Given the description of an element on the screen output the (x, y) to click on. 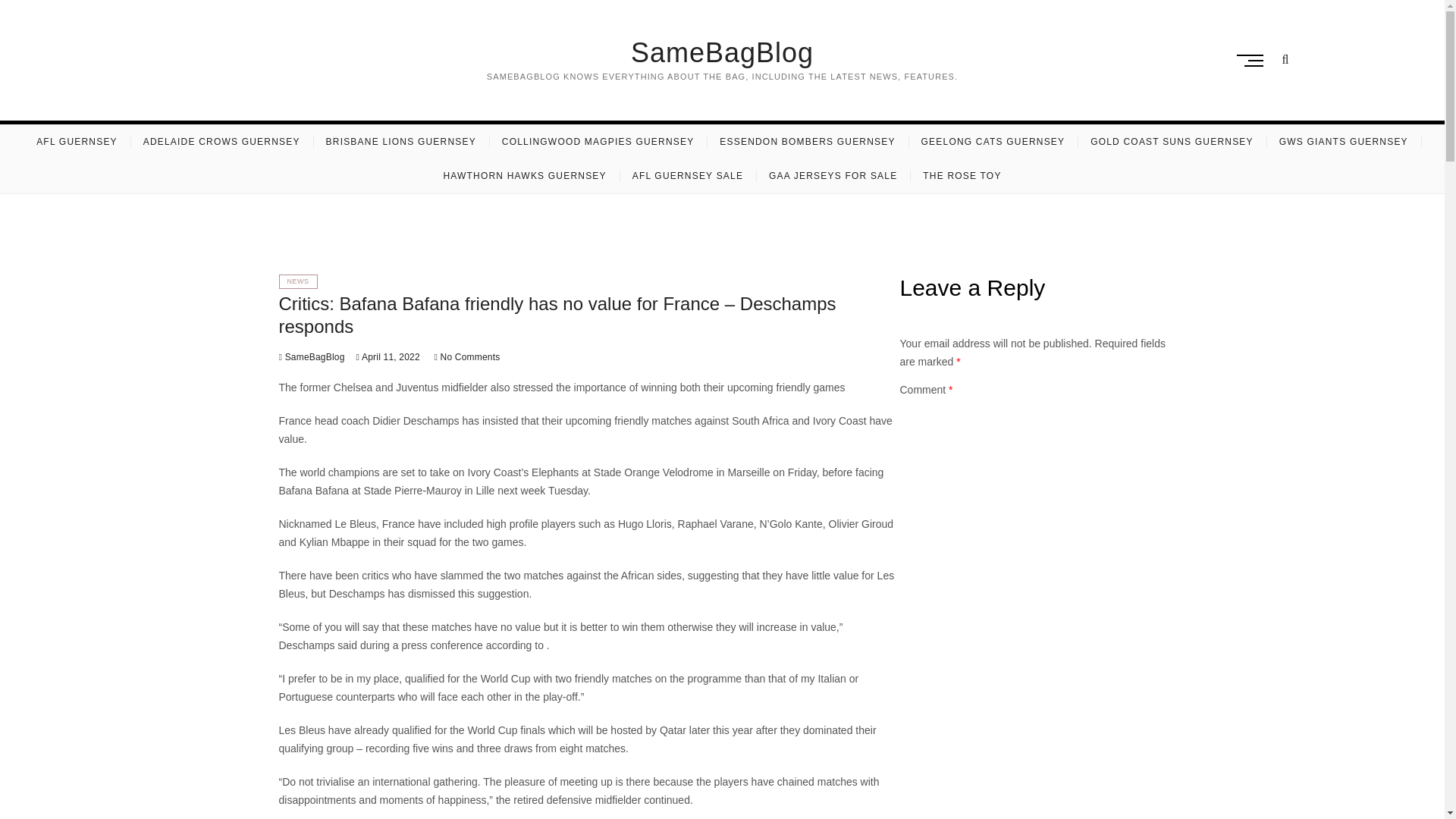
COLLINGWOOD MAGPIES GUERNSEY (598, 141)
GWS GIANTS GUERNSEY (1343, 141)
GOLD COAST SUNS GUERNSEY (1171, 141)
GAA JERSEYS FOR SALE (832, 175)
HAWTHORN HAWKS GUERNSEY (523, 175)
AFL GUERNSEY (76, 141)
BRISBANE LIONS GUERNSEY (400, 141)
THE ROSE TOY (961, 175)
SameBagBlog (721, 52)
AFL GUERNSEY SALE (687, 175)
April 11, 2022 (388, 357)
ESSENDON BOMBERS GUERNSEY (806, 141)
ADELAIDE CROWS GUERNSEY (221, 141)
SameBagBlog (721, 52)
GEELONG CATS GUERNSEY (993, 141)
